Given the description of an element on the screen output the (x, y) to click on. 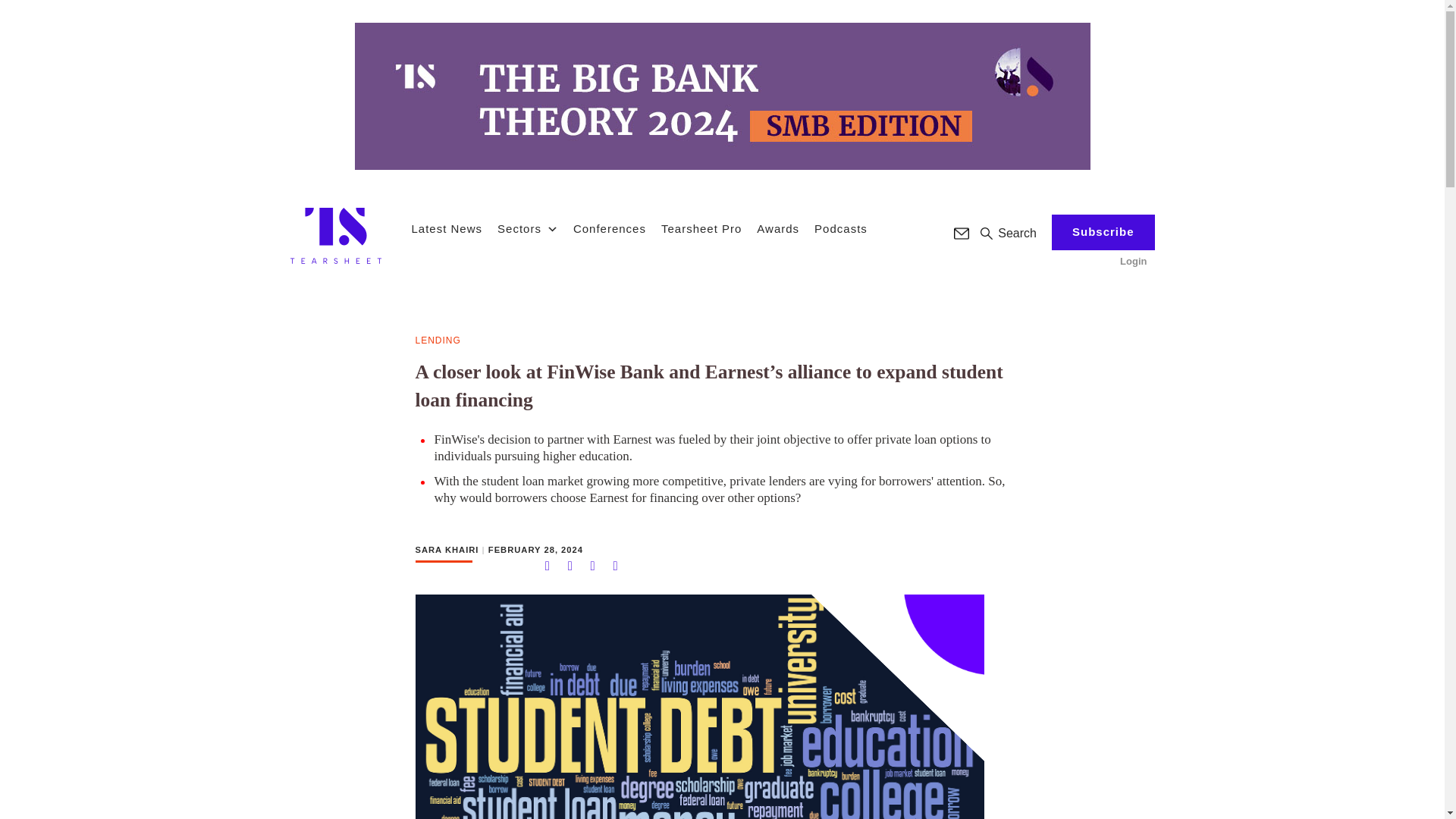
Newsletter (961, 233)
Tearsheet Pro (701, 229)
Podcasts (840, 229)
Subscribe (1102, 232)
Tearsheet (334, 235)
Latest News (446, 229)
Awards (777, 229)
Lending (437, 340)
Sectors (527, 229)
Conferences (609, 229)
